Given the description of an element on the screen output the (x, y) to click on. 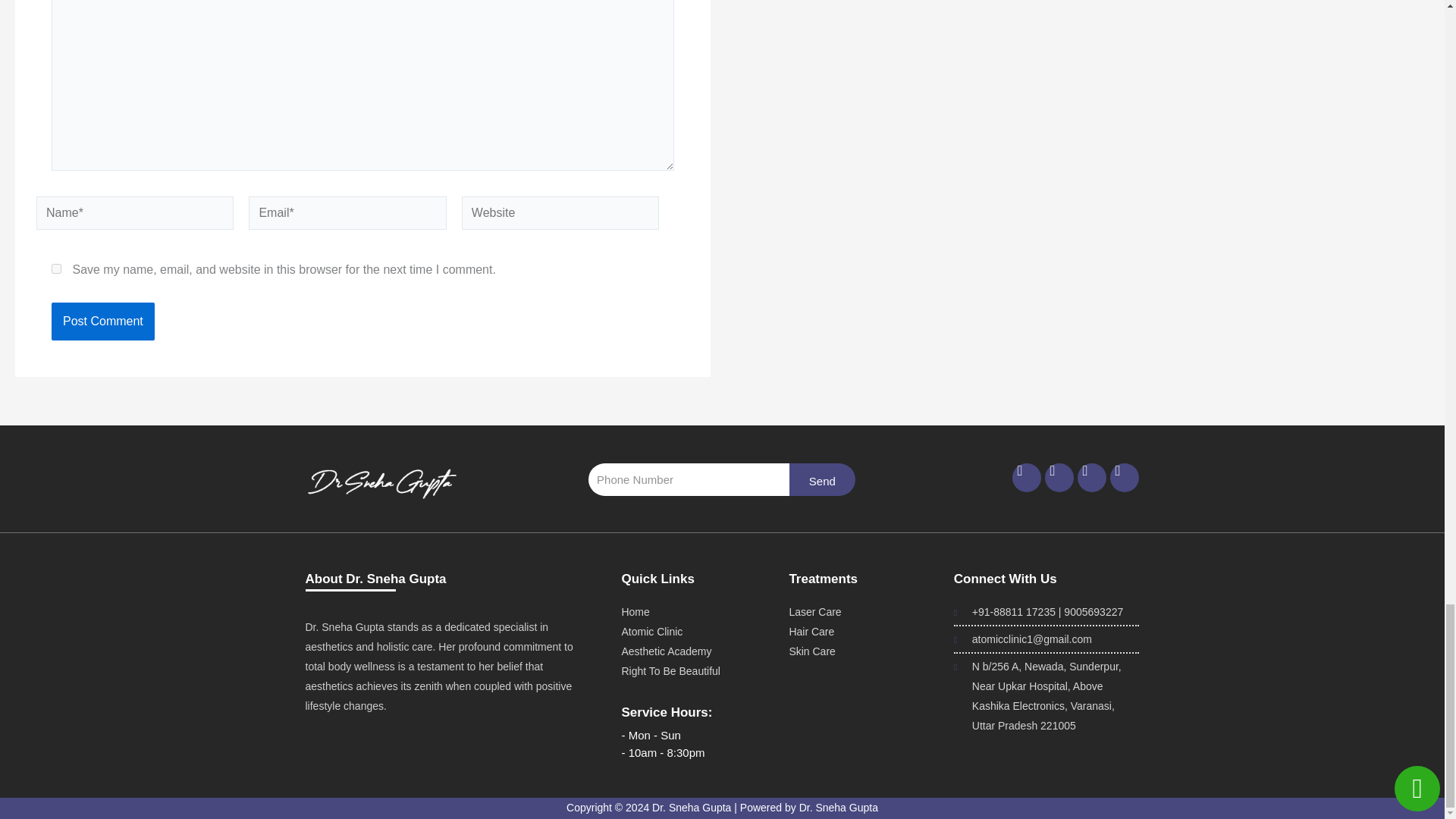
Send (822, 479)
Post Comment (102, 321)
yes (55, 268)
Linkedin (1091, 477)
Post Comment (102, 321)
Instagram (1059, 477)
Facebook (1026, 477)
